Given the description of an element on the screen output the (x, y) to click on. 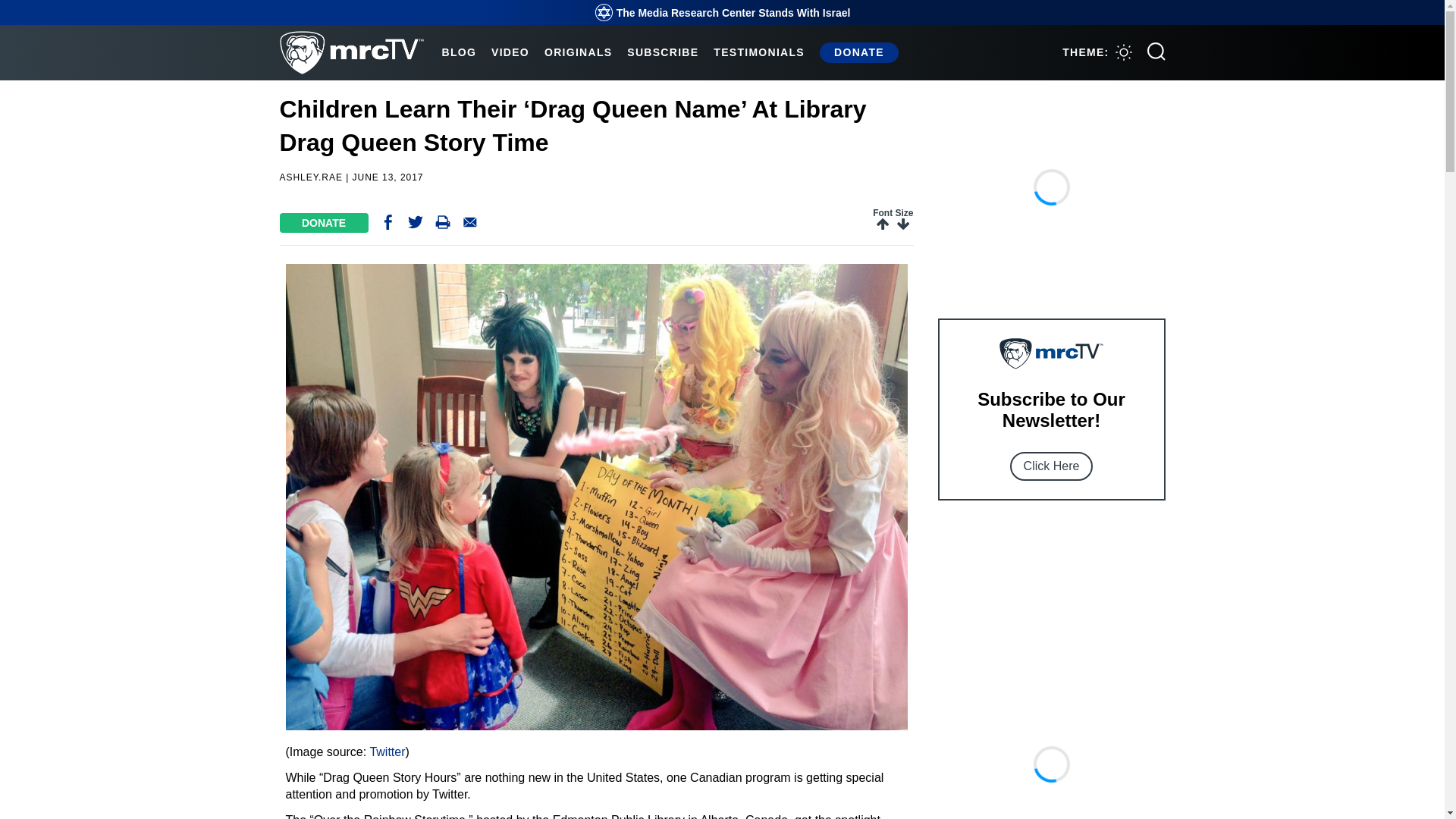
ASHLEY.RAE (310, 176)
DONATE (323, 222)
TESTIMONIALS (759, 51)
DONATE (858, 51)
THEME: (1096, 52)
SUBSCRIBE (662, 51)
ORIGINALS (577, 51)
Print Page (442, 225)
VIDEO (510, 51)
